Given the description of an element on the screen output the (x, y) to click on. 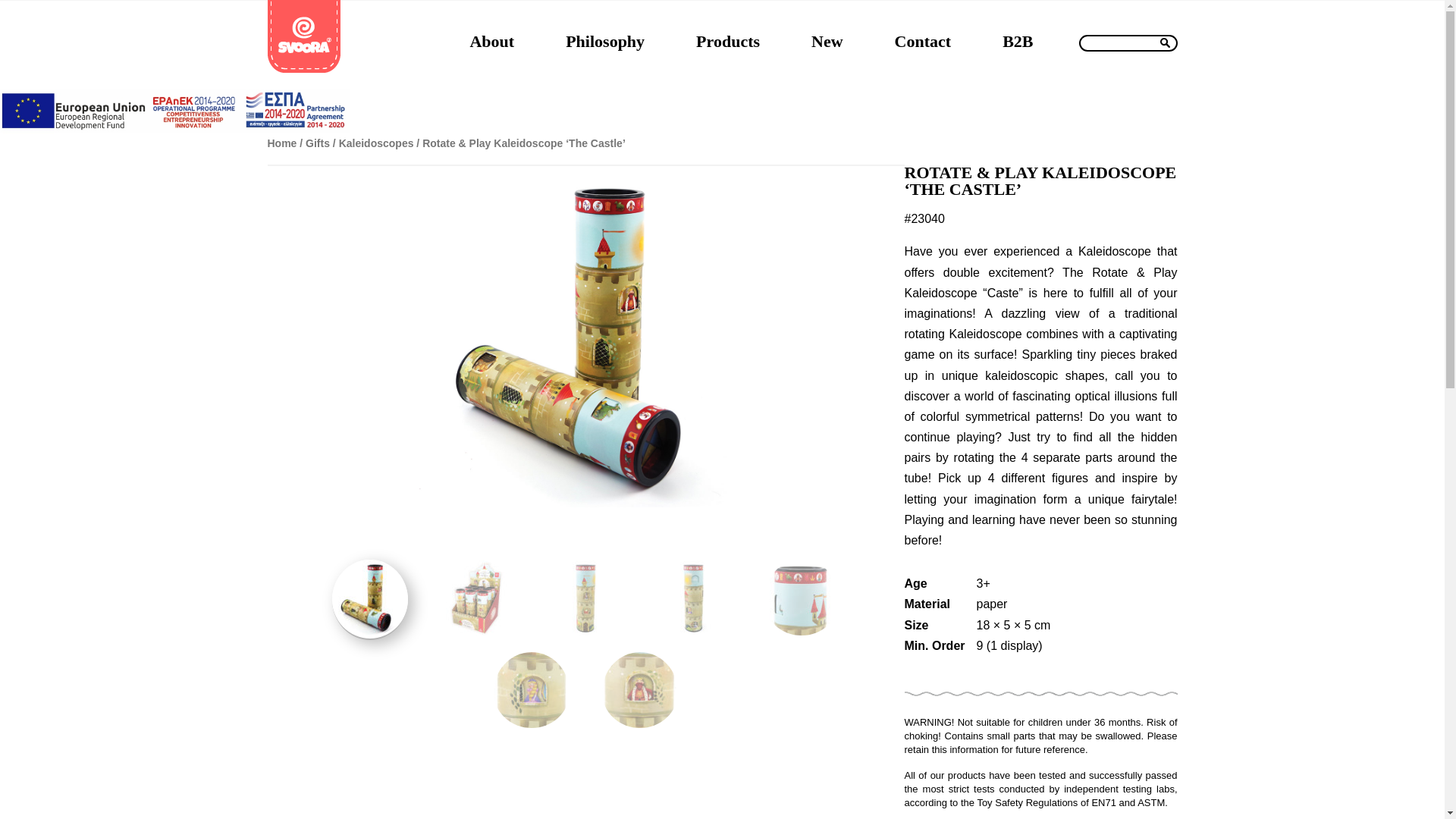
B2B (1017, 40)
label (1127, 43)
23040 (369, 599)
New (827, 40)
Philosophy (604, 40)
Products (727, 40)
About (491, 40)
ESPA BANNER (175, 128)
Search (1164, 40)
Contact (922, 40)
